Given the description of an element on the screen output the (x, y) to click on. 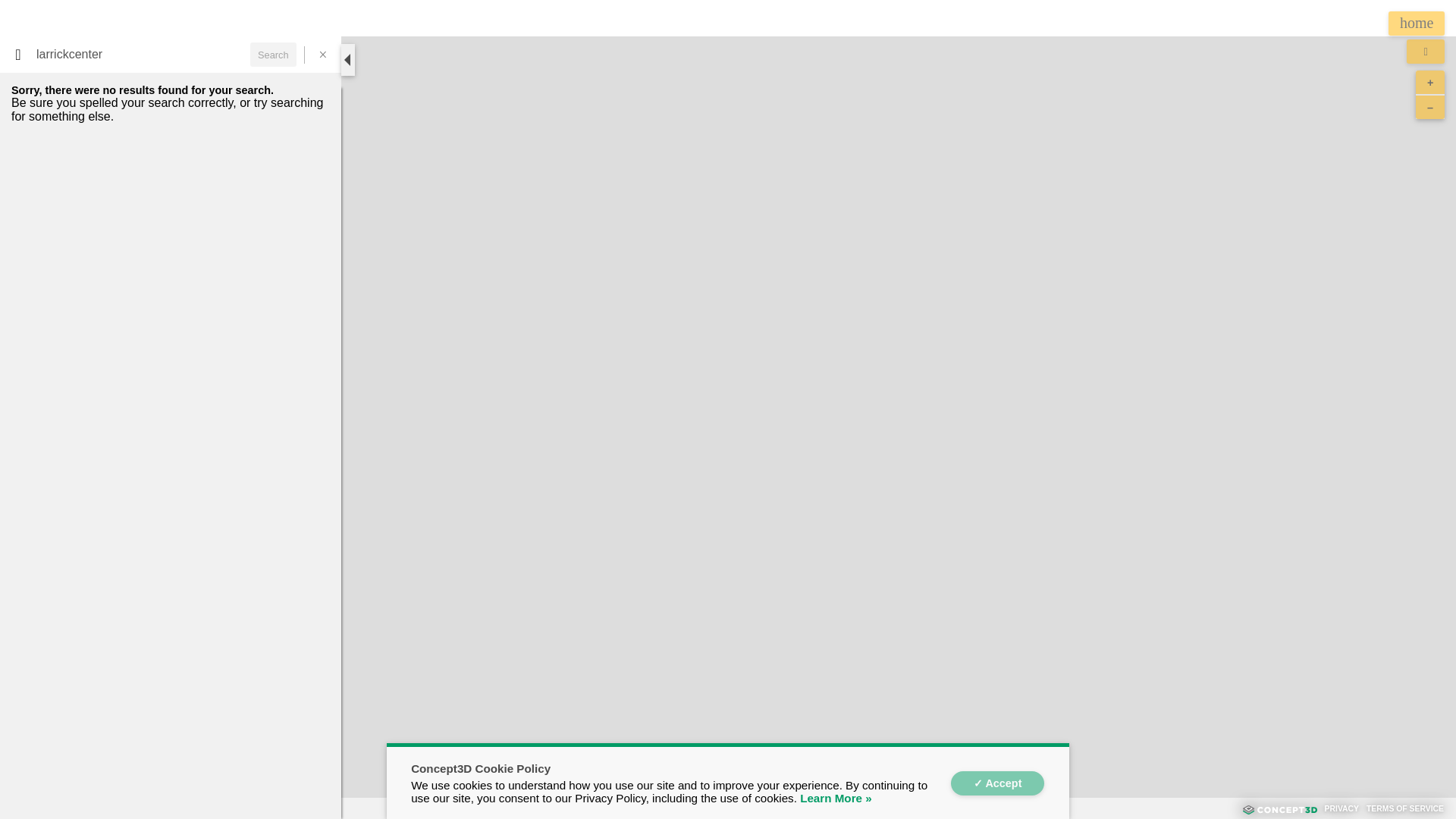
larrickcenter (141, 54)
larrickcenter (141, 54)
Zoom in (1429, 82)
Virginia Commonwealth University (171, 780)
Toggle map layers (1425, 51)
Using the map (129, 805)
SELECT ALL (265, 96)
Search (273, 54)
home (1416, 23)
Zoom out (1429, 106)
Submit feedback (205, 805)
Close search (322, 54)
CLEAR (316, 96)
Virginia Commonwealth University (171, 780)
TERMS OF SERVICE (1405, 808)
